Given the description of an element on the screen output the (x, y) to click on. 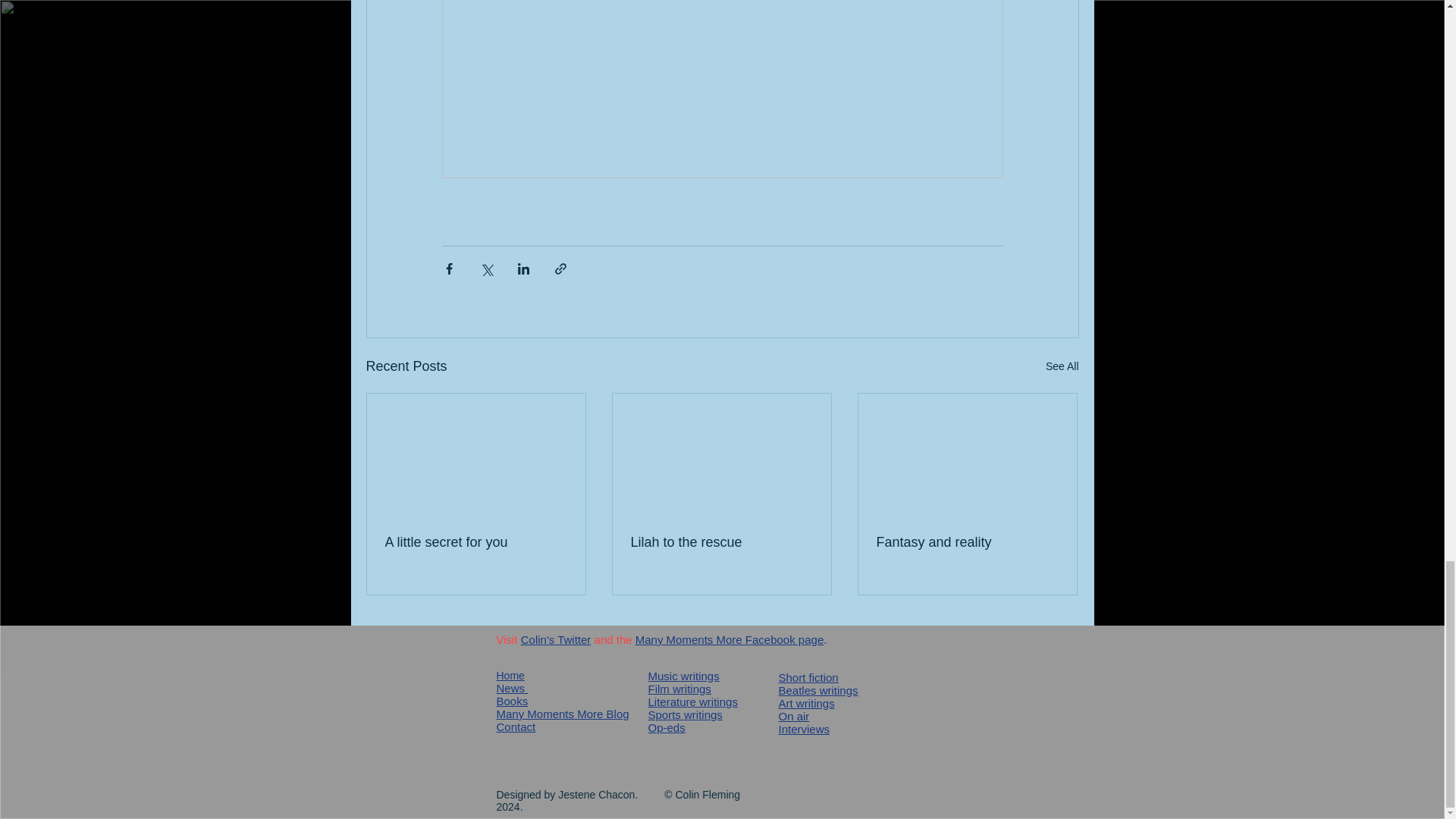
Home (510, 675)
Short fiction (807, 676)
News  (511, 687)
Sports writings (684, 714)
A little secret for you (476, 542)
Op-eds (665, 727)
Contact (515, 726)
Colin's Twitter (556, 639)
Books (511, 700)
See All (1061, 366)
Many Moments More Blog (562, 713)
Beatles writings (817, 689)
Many Moments More Facebook page (729, 639)
Art writings (805, 703)
Film writings (678, 688)
